Given the description of an element on the screen output the (x, y) to click on. 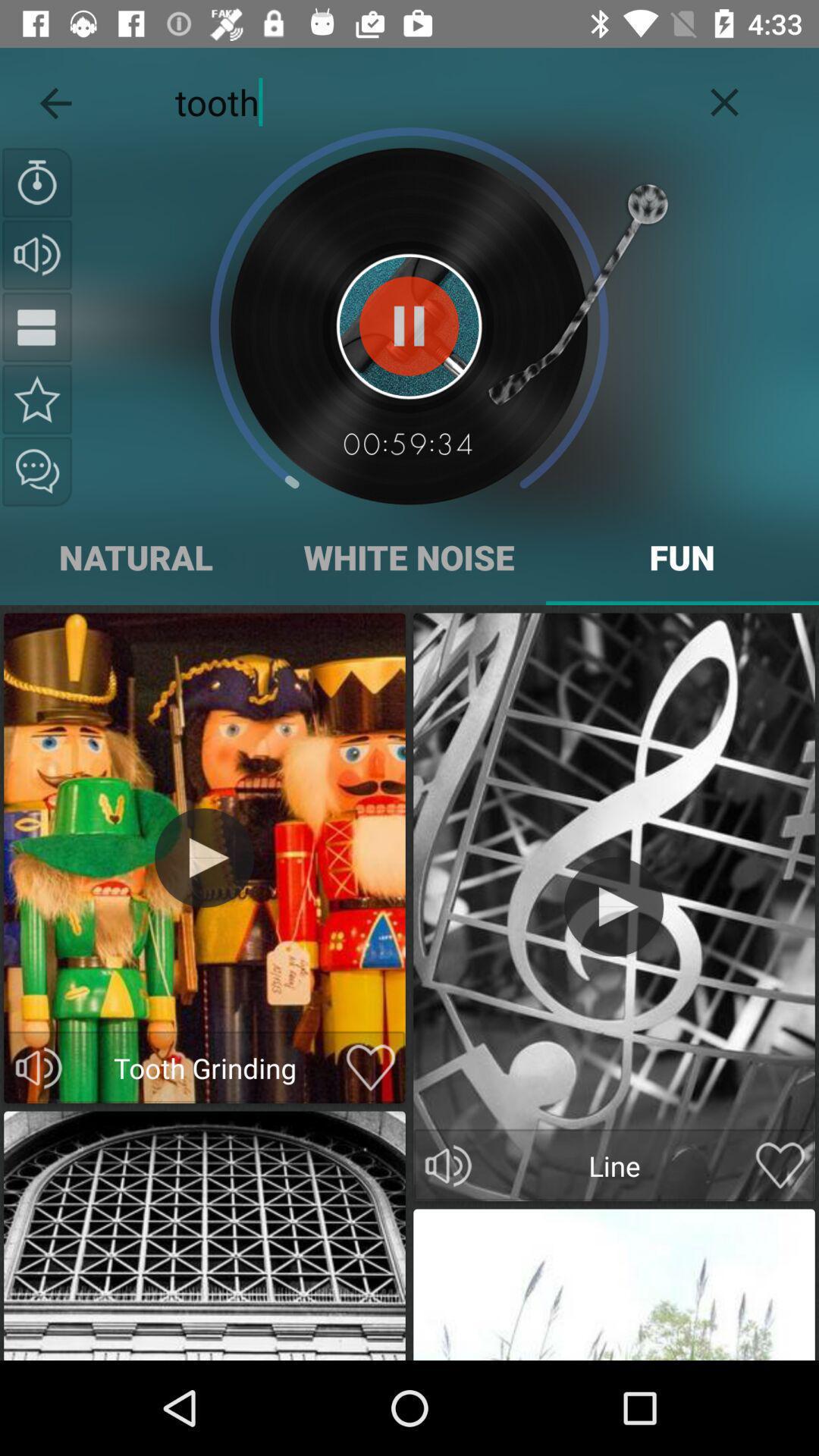
choose an option to listen (448, 1166)
